Given the description of an element on the screen output the (x, y) to click on. 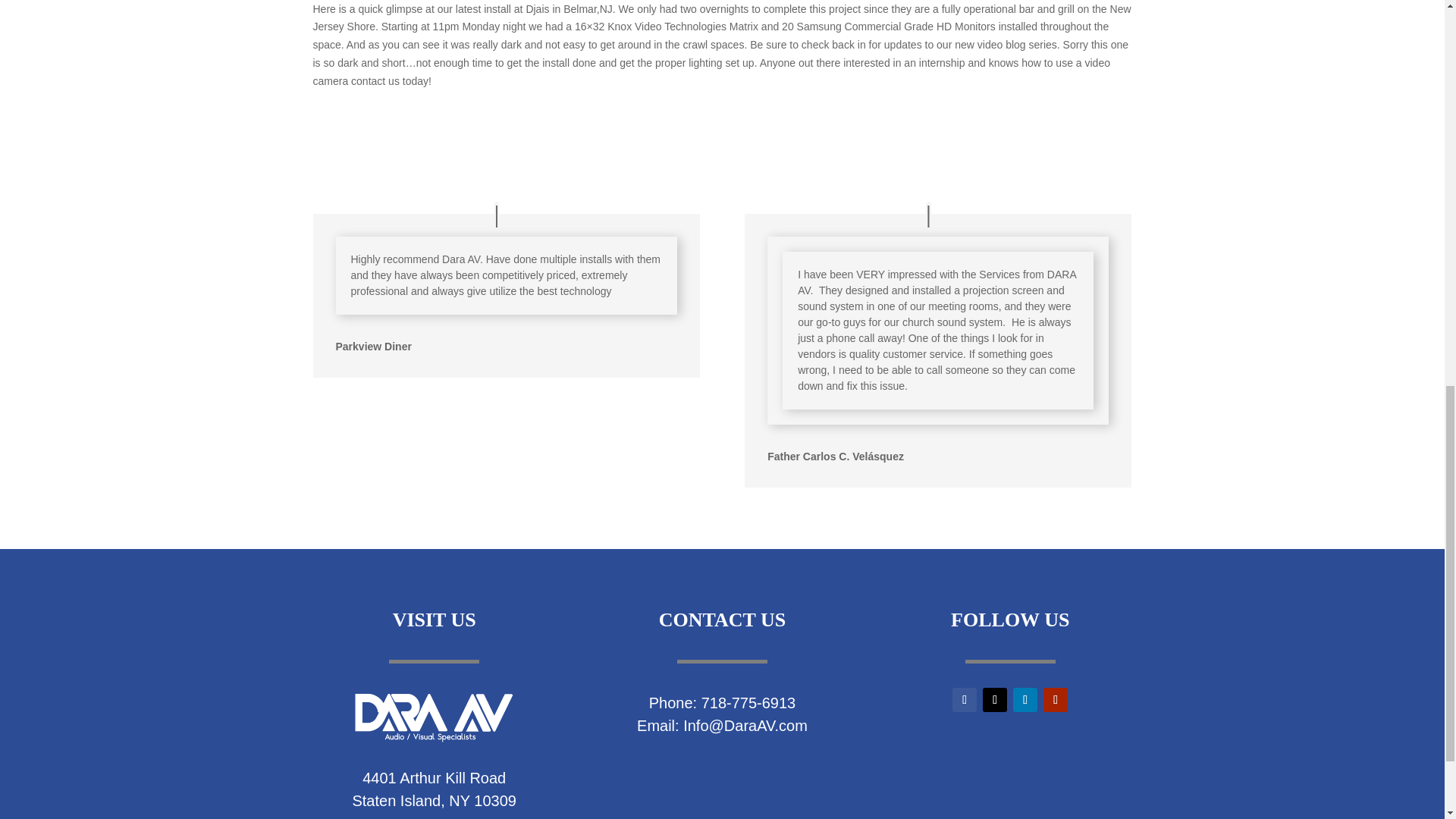
Follow on Facebook (964, 699)
Follow on LinkedIn (1024, 699)
Follow on Youtube (1055, 699)
Follow on X (994, 699)
